Given the description of an element on the screen output the (x, y) to click on. 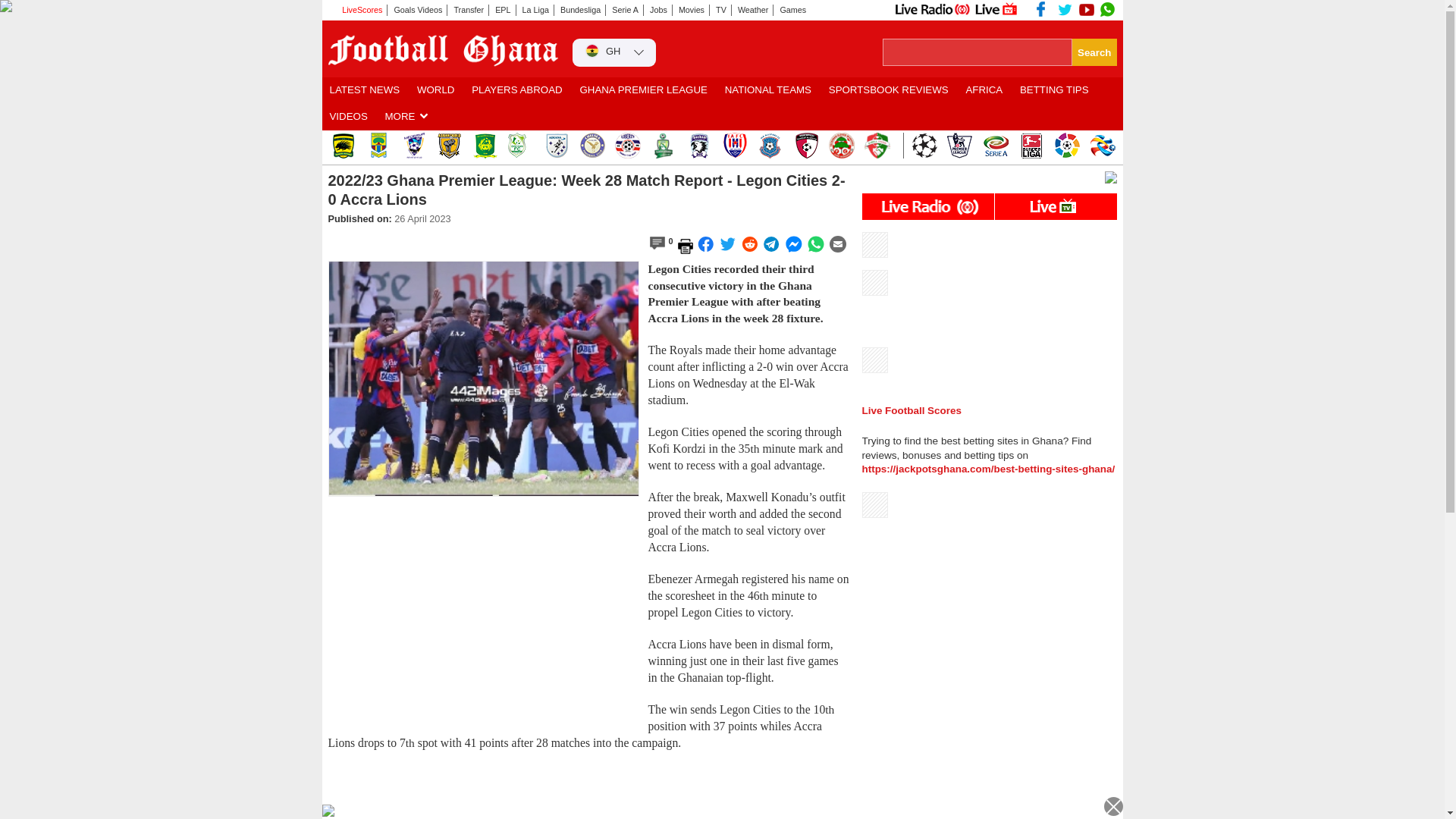
Techiman Wonders (840, 145)
TV (720, 9)
Berekum Chelsea (592, 145)
Kumasi Asante Kotoko (342, 145)
Footballghana Twitter (1065, 9)
Live TV (996, 9)
Live Radio (931, 9)
Ebusua Dwarfs (484, 145)
WAFA (805, 145)
Karela FC (876, 145)
AshantiGold (449, 145)
Aduana Stars (556, 145)
Jobs (658, 9)
Bundesliga (580, 9)
Dreams Fc (521, 145)
